Given the description of an element on the screen output the (x, y) to click on. 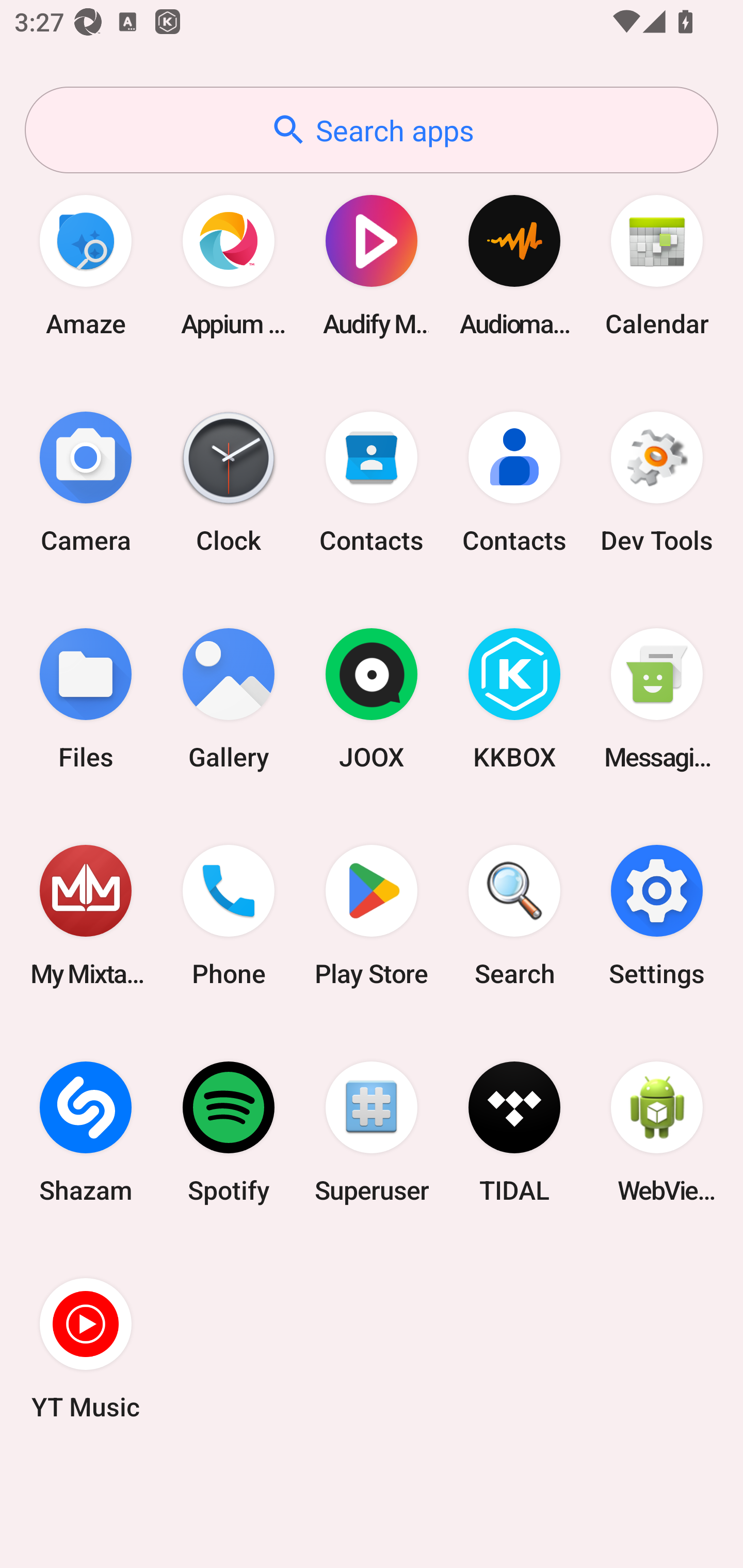
  Search apps (371, 130)
Amaze (85, 264)
Appium Settings (228, 264)
Audify Music Player (371, 264)
Audio­mack (514, 264)
Calendar (656, 264)
Camera (85, 482)
Clock (228, 482)
Contacts (371, 482)
Contacts (514, 482)
Dev Tools (656, 482)
Files (85, 699)
Gallery (228, 699)
JOOX (371, 699)
KKBOX (514, 699)
Messaging (656, 699)
My Mixtapez (85, 915)
Phone (228, 915)
Play Store (371, 915)
Search (514, 915)
Settings (656, 915)
Shazam (85, 1131)
Spotify (228, 1131)
Superuser (371, 1131)
TIDAL (514, 1131)
WebView Browser Tester (656, 1131)
YT Music (85, 1348)
